Given the description of an element on the screen output the (x, y) to click on. 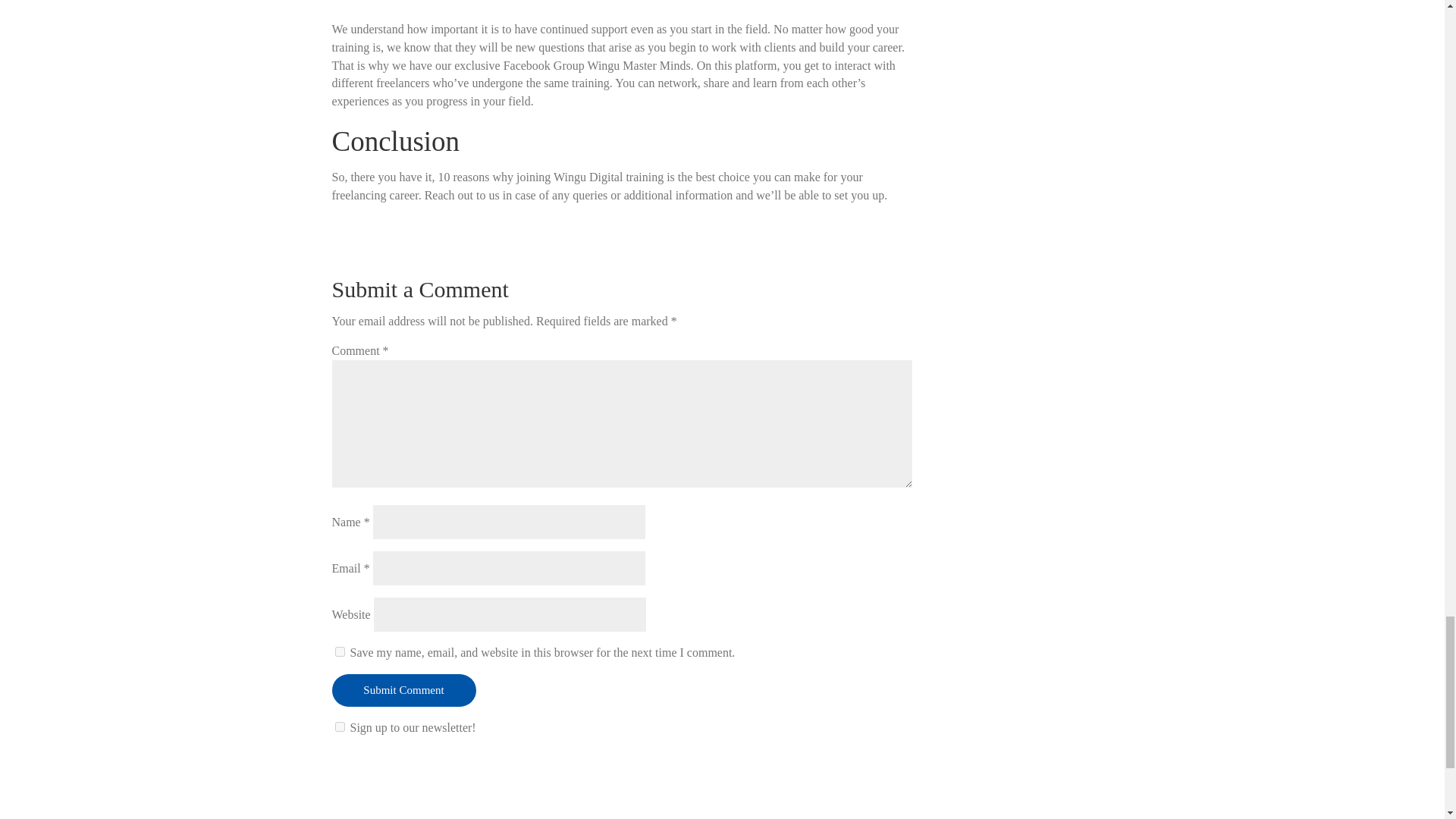
Submit Comment (403, 690)
Submit Comment (403, 690)
yes (339, 651)
1 (339, 726)
